Given the description of an element on the screen output the (x, y) to click on. 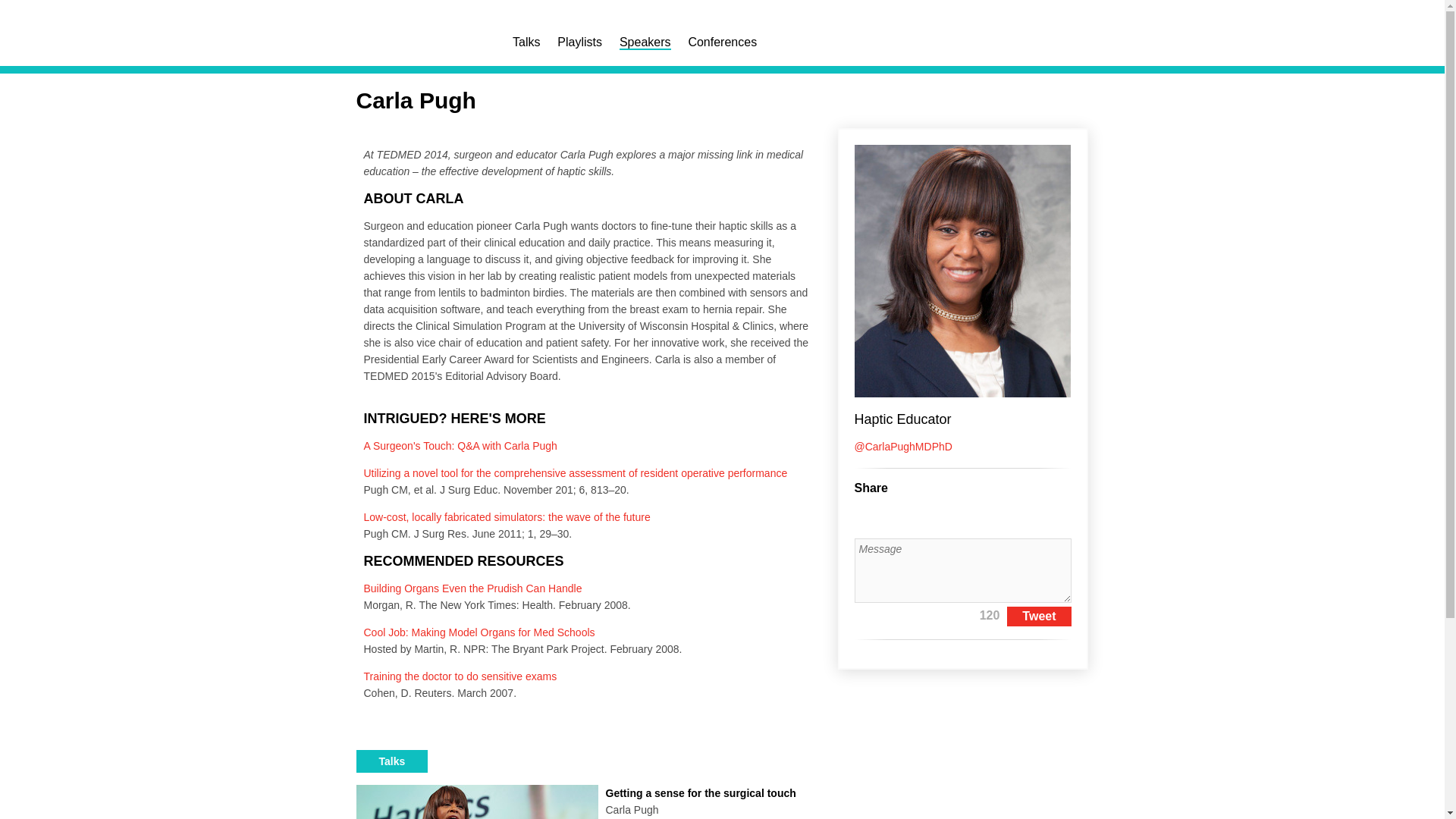
Training the doctor to do sensitive exams (460, 676)
Tweet (1038, 616)
Tweet (1038, 616)
Talks (392, 761)
Speakers (589, 801)
Cool Job: Making Model Organs for Med Schools (645, 42)
Playlists (479, 632)
Conferences (579, 42)
